Given the description of an element on the screen output the (x, y) to click on. 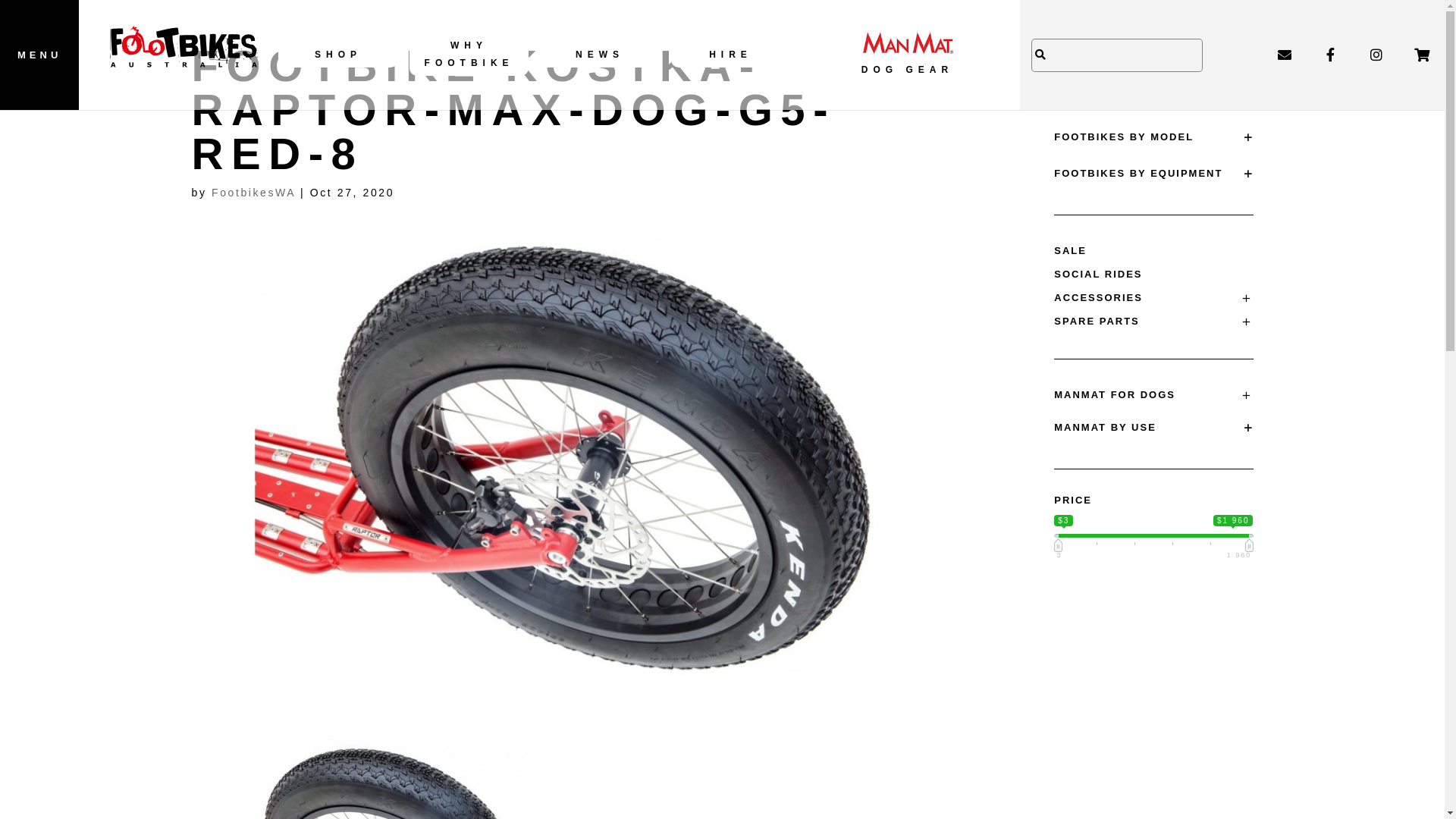
FootbikesWA Element type: text (253, 192)
MENU Element type: text (39, 54)
HIRE Element type: text (730, 54)
NEWS Element type: text (598, 54)
DOG GEAR Element type: text (907, 54)
WHY FOOTBIKE Element type: text (468, 54)
SHOP Element type: text (337, 54)
